Given the description of an element on the screen output the (x, y) to click on. 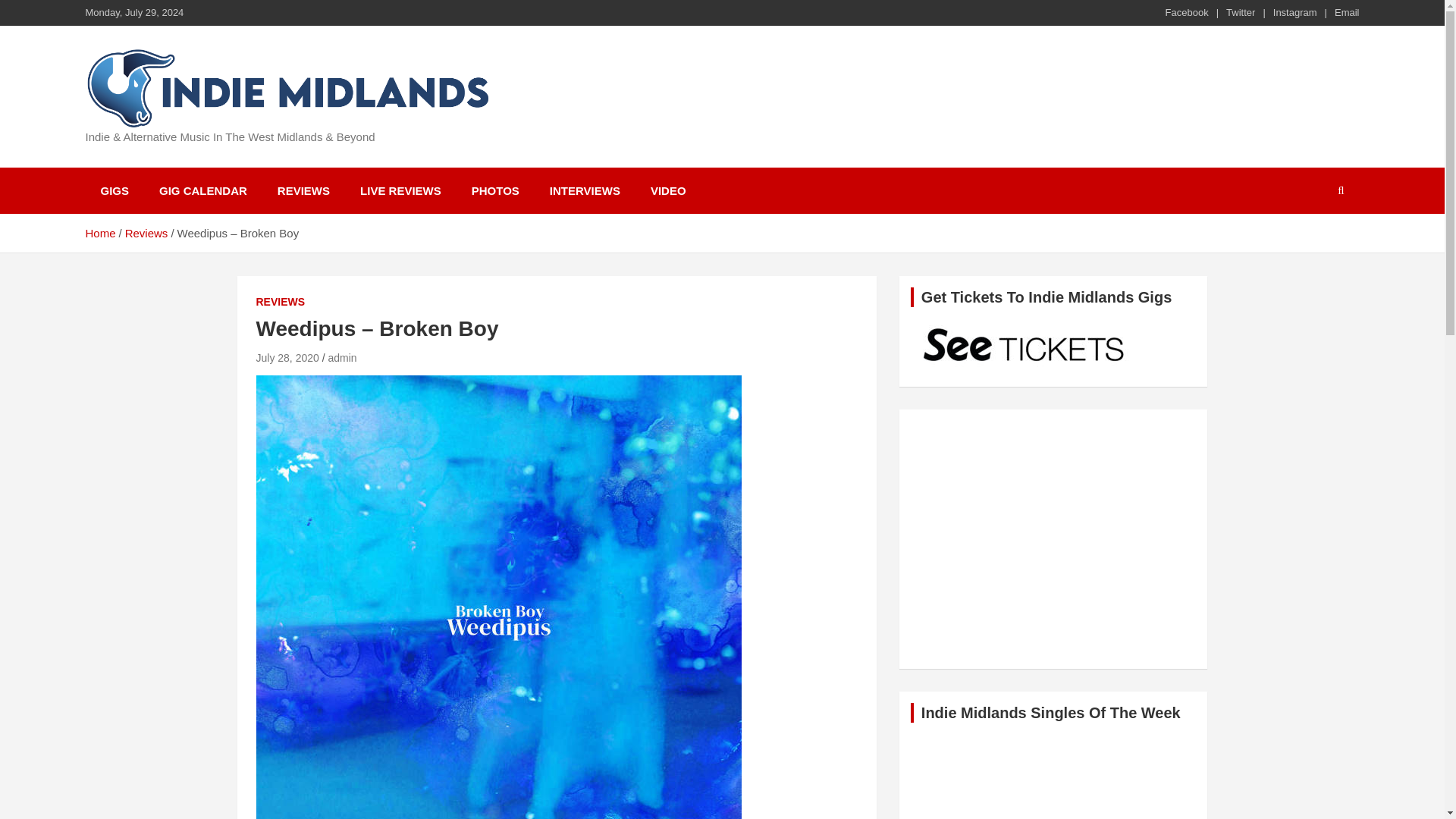
INTERVIEWS (584, 190)
Reviews (146, 232)
Twitter (1240, 12)
GIGS (114, 190)
PHOTOS (495, 190)
Leo - Rough Hands (1053, 527)
July 28, 2020 (287, 357)
Facebook (1187, 12)
Get Tickets To Indie Midlands Gigs (1024, 346)
LIVE REVIEWS (401, 190)
Email (1347, 12)
REVIEWS (303, 190)
VIDEO (667, 190)
Home (99, 232)
GIG CALENDAR (203, 190)
